Given the description of an element on the screen output the (x, y) to click on. 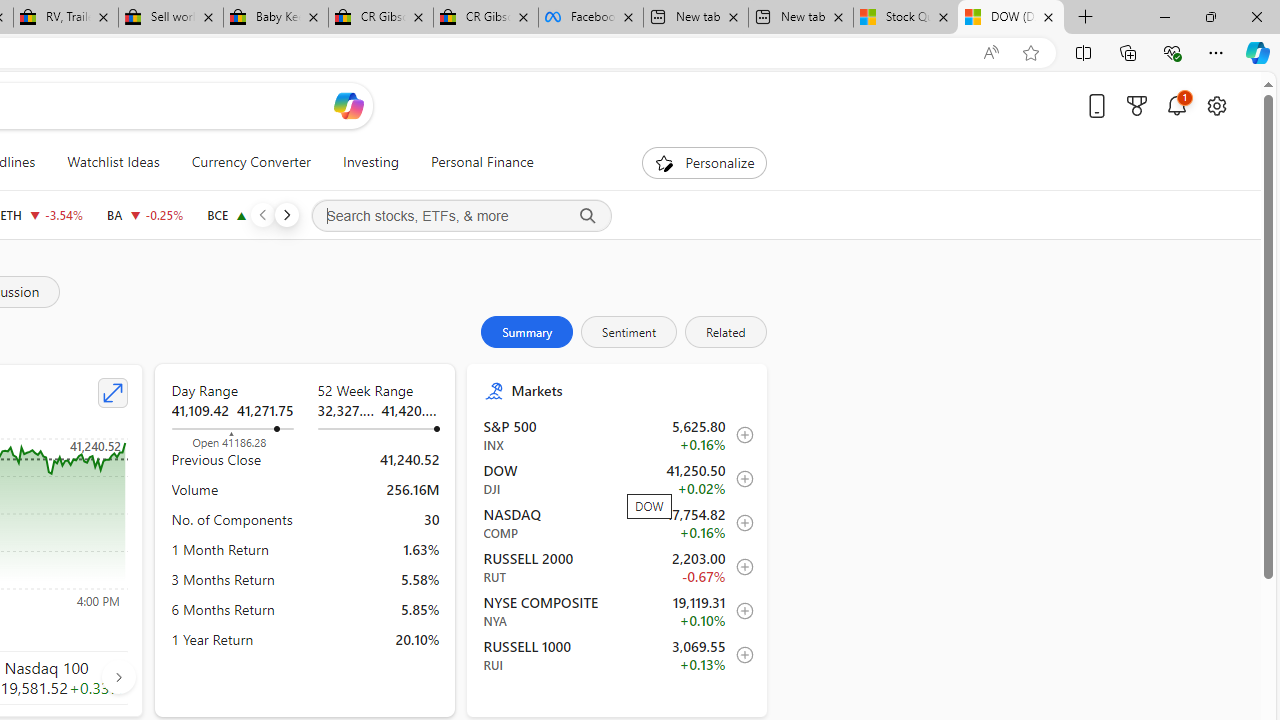
AutomationID: finance_carousel_navi_arrow (118, 676)
Personal Finance (481, 162)
